Given the description of an element on the screen output the (x, y) to click on. 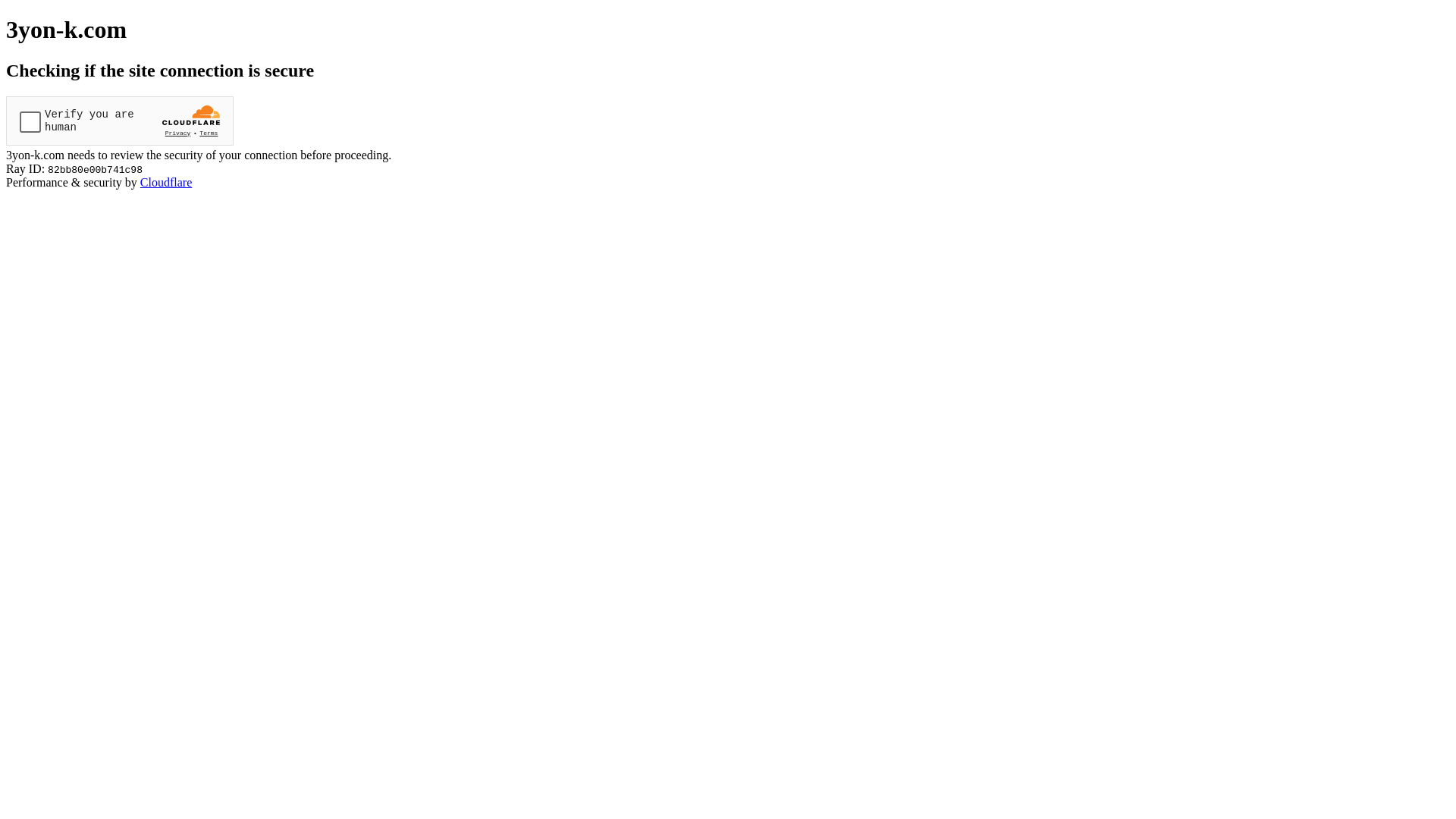
Cloudflare Element type: text (165, 181)
Widget containing a Cloudflare security challenge Element type: hover (119, 120)
